Given the description of an element on the screen output the (x, y) to click on. 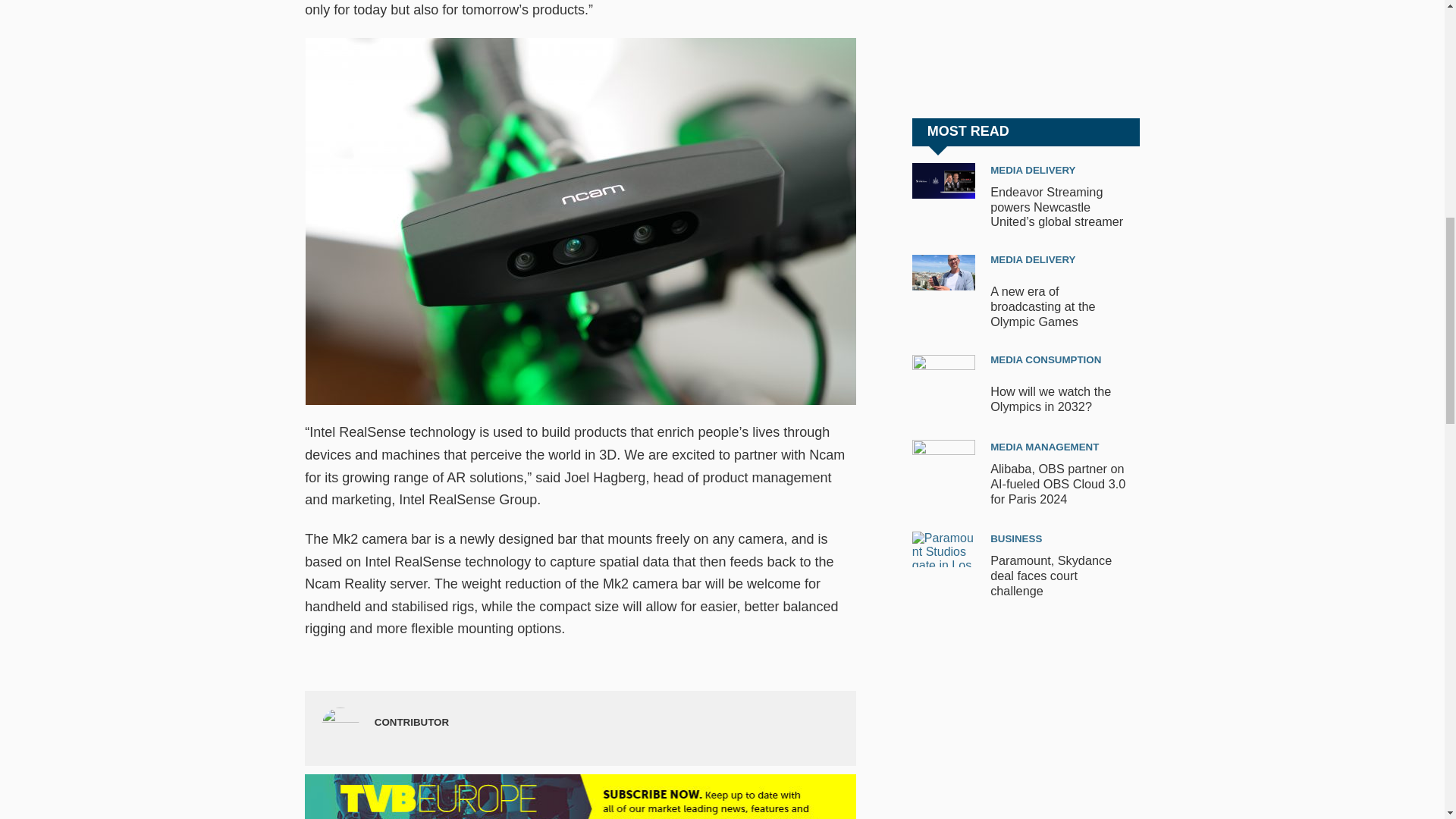
Contributor's Author Profile (411, 722)
